Given the description of an element on the screen output the (x, y) to click on. 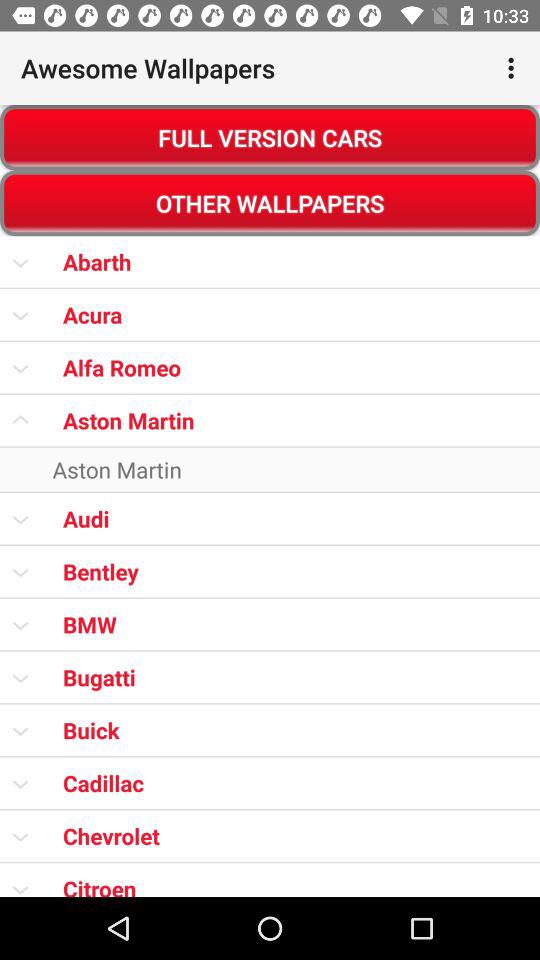
press item above other wallpapers item (270, 137)
